Given the description of an element on the screen output the (x, y) to click on. 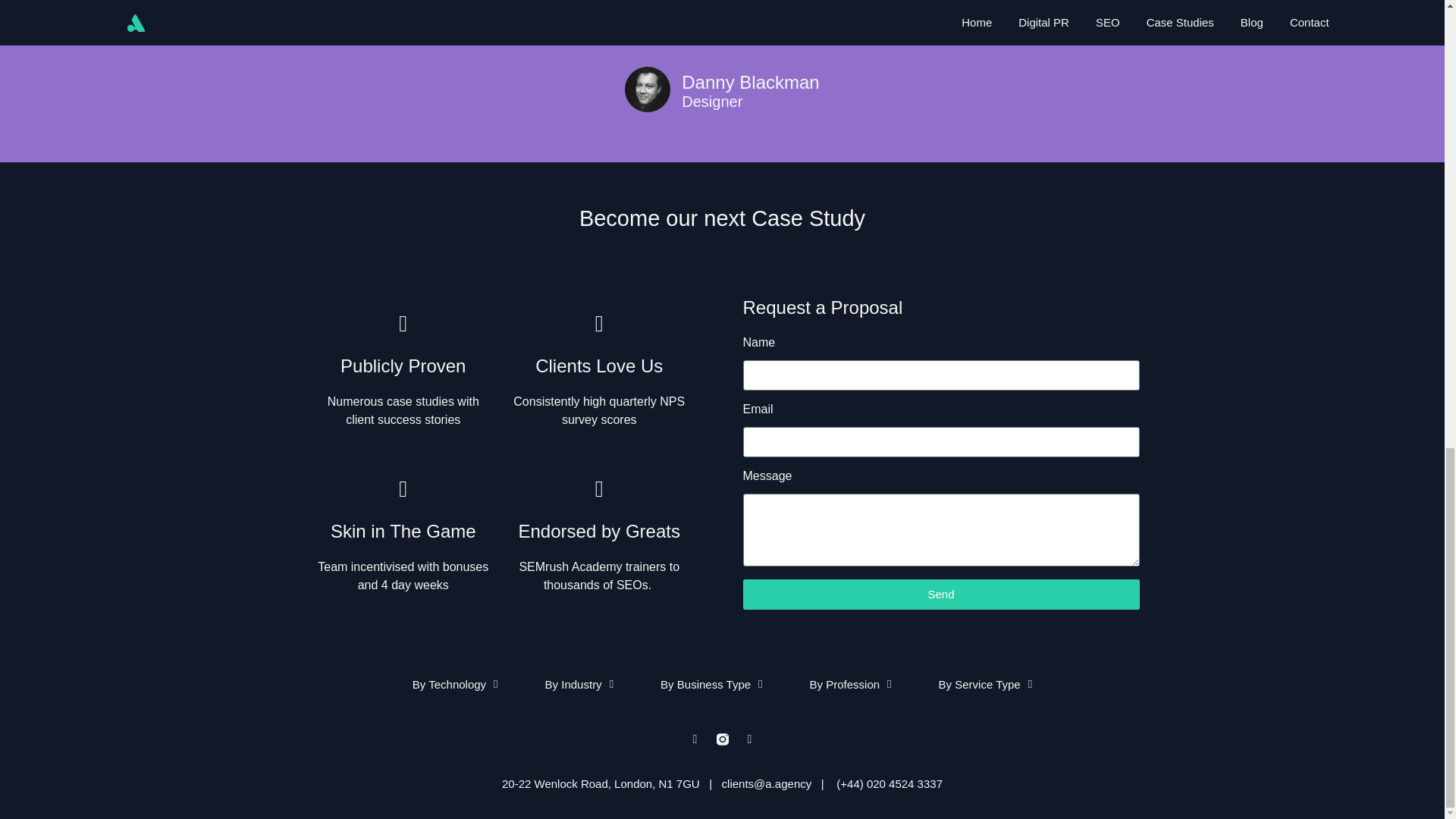
By Industry (579, 684)
By Technology (454, 684)
Send (941, 594)
